Given the description of an element on the screen output the (x, y) to click on. 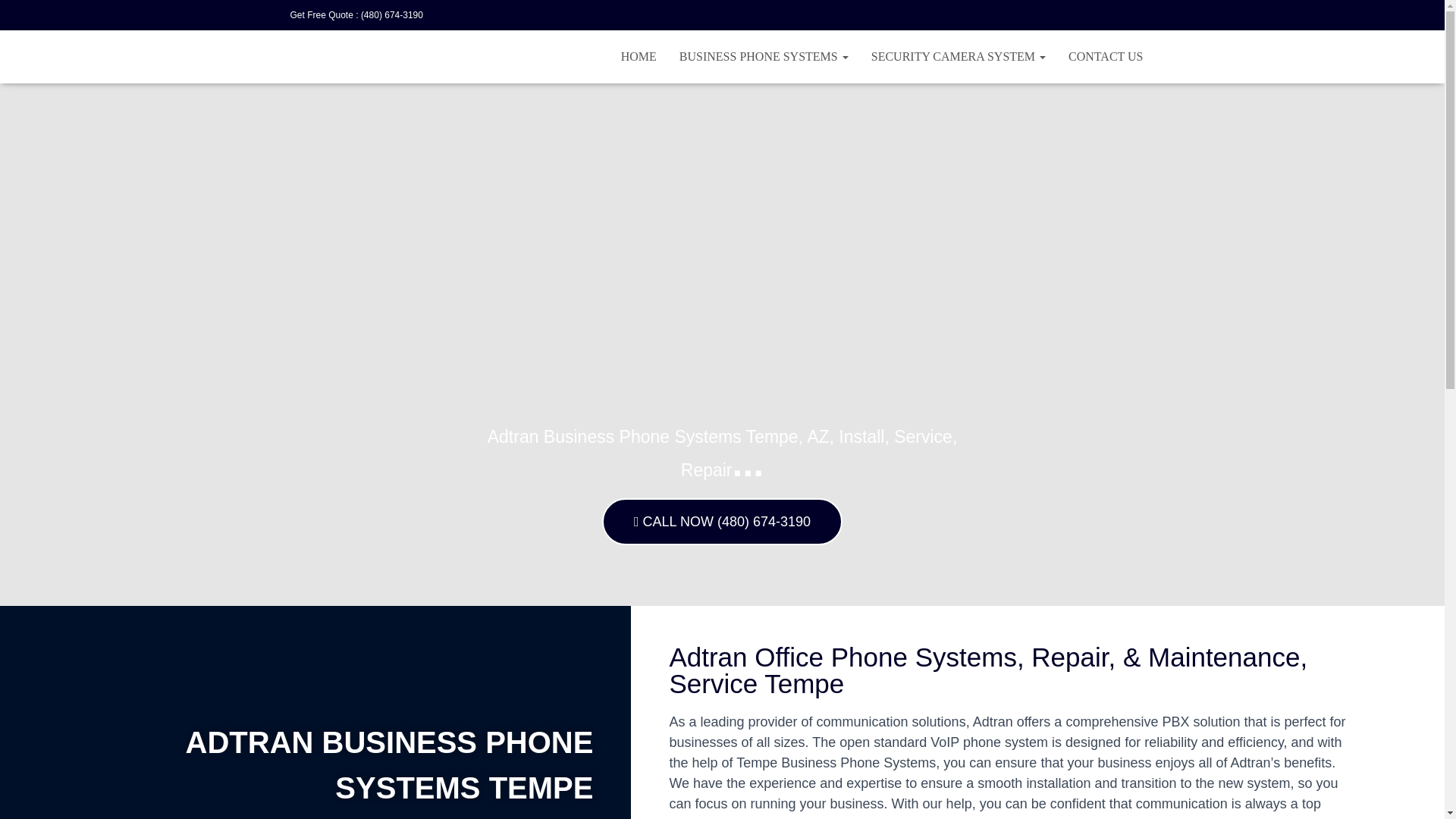
BUSINESS PHONE SYSTEMS (764, 56)
HOME (639, 56)
Home (639, 56)
SECURITY CAMERA SYSTEM (958, 56)
CONTACT US (1105, 56)
BUSINESS PHONE SYSTEMS (764, 56)
